Given the description of an element on the screen output the (x, y) to click on. 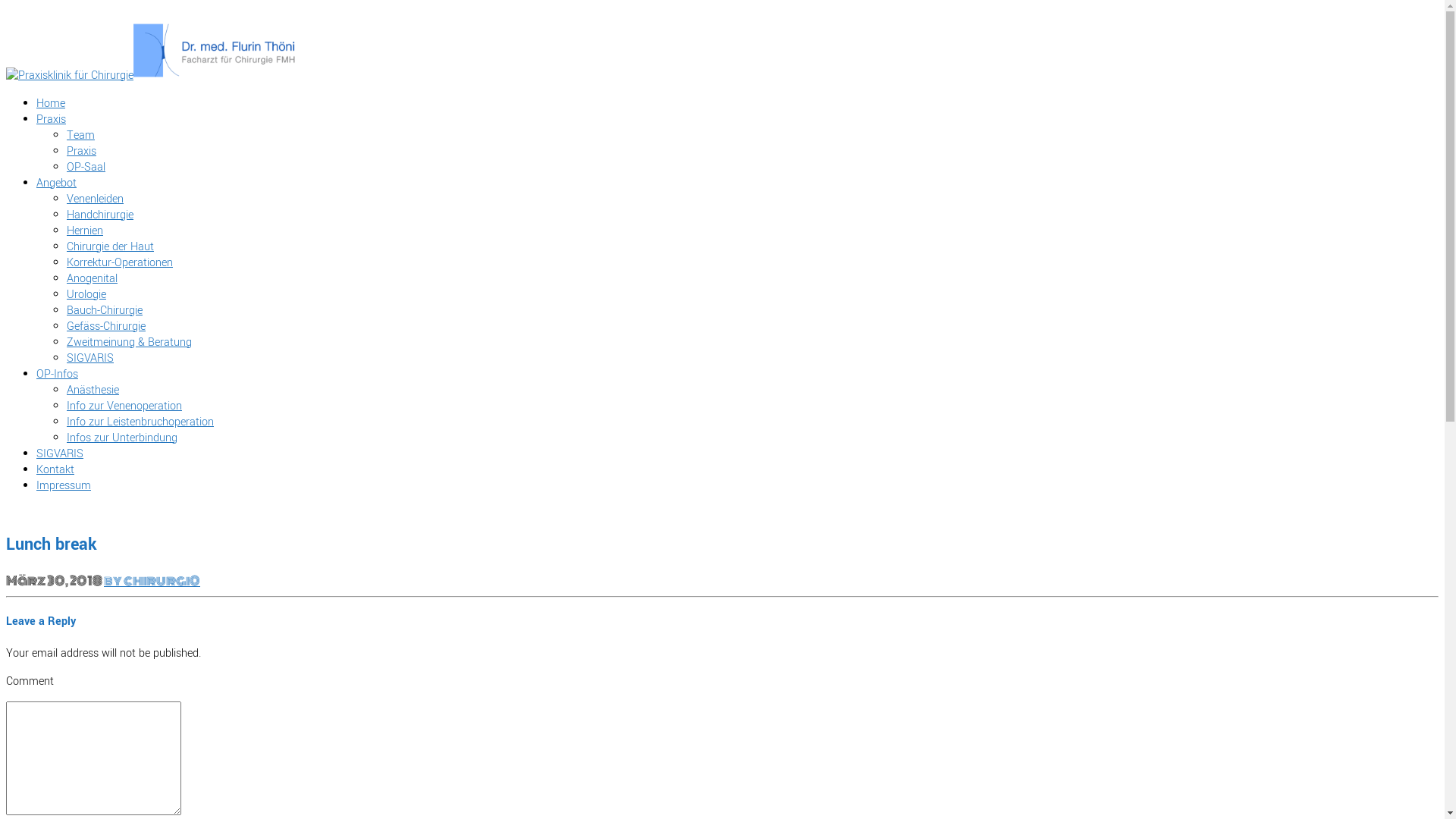
Praxis Element type: text (81, 151)
by chirurgi Element type: text (146, 580)
Korrektur-Operationen Element type: text (119, 262)
Kontakt Element type: text (55, 469)
OP-Saal Element type: text (85, 167)
Hernien Element type: text (84, 230)
Handchirurgie Element type: text (99, 214)
Praxis Element type: text (50, 119)
Info zur Venenoperation Element type: text (124, 406)
Bauch-Chirurgie Element type: text (104, 310)
Chirurgie der Haut Element type: text (109, 246)
SIGVARIS Element type: text (59, 453)
Venenleiden Element type: text (94, 199)
Urologie Element type: text (86, 294)
OP-Infos Element type: text (57, 374)
Impressum Element type: text (63, 485)
Angebot Element type: text (56, 183)
Zweitmeinung & Beratung Element type: text (128, 342)
Anogenital Element type: text (91, 278)
SIGVARIS Element type: text (89, 358)
Home Element type: text (50, 103)
Team Element type: text (80, 135)
0 Element type: text (194, 580)
Infos zur Unterbindung Element type: text (121, 437)
Info zur Leistenbruchoperation Element type: text (139, 421)
